Given the description of an element on the screen output the (x, y) to click on. 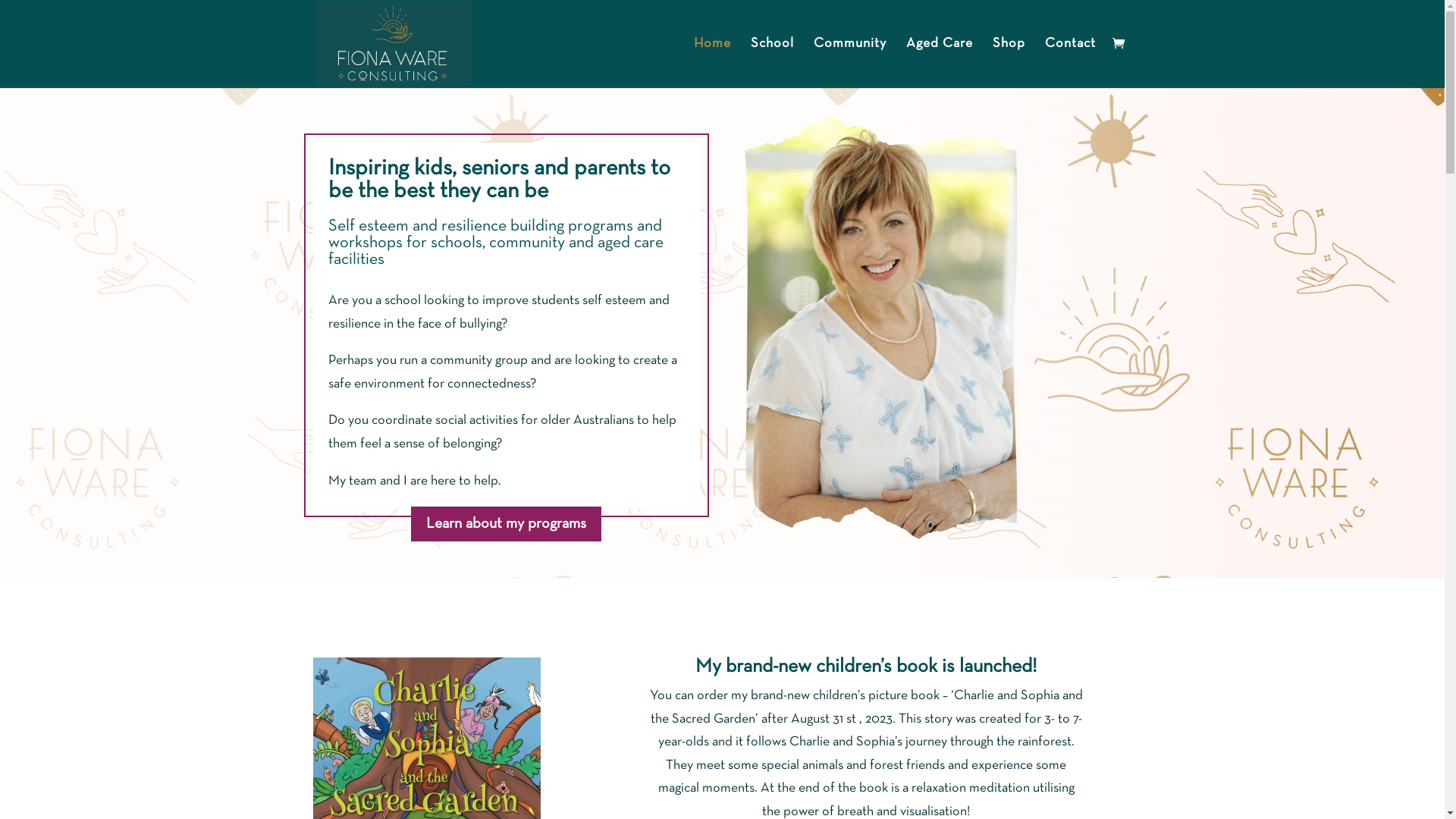
School Element type: text (771, 62)
Community Element type: text (848, 62)
Contact Element type: text (1069, 62)
Aged Care Element type: text (938, 62)
Learn about my programs Element type: text (506, 523)
building-resilience-workshop-program Element type: hover (881, 333)
Shop Element type: text (1007, 62)
Home Element type: text (711, 62)
